Given the description of an element on the screen output the (x, y) to click on. 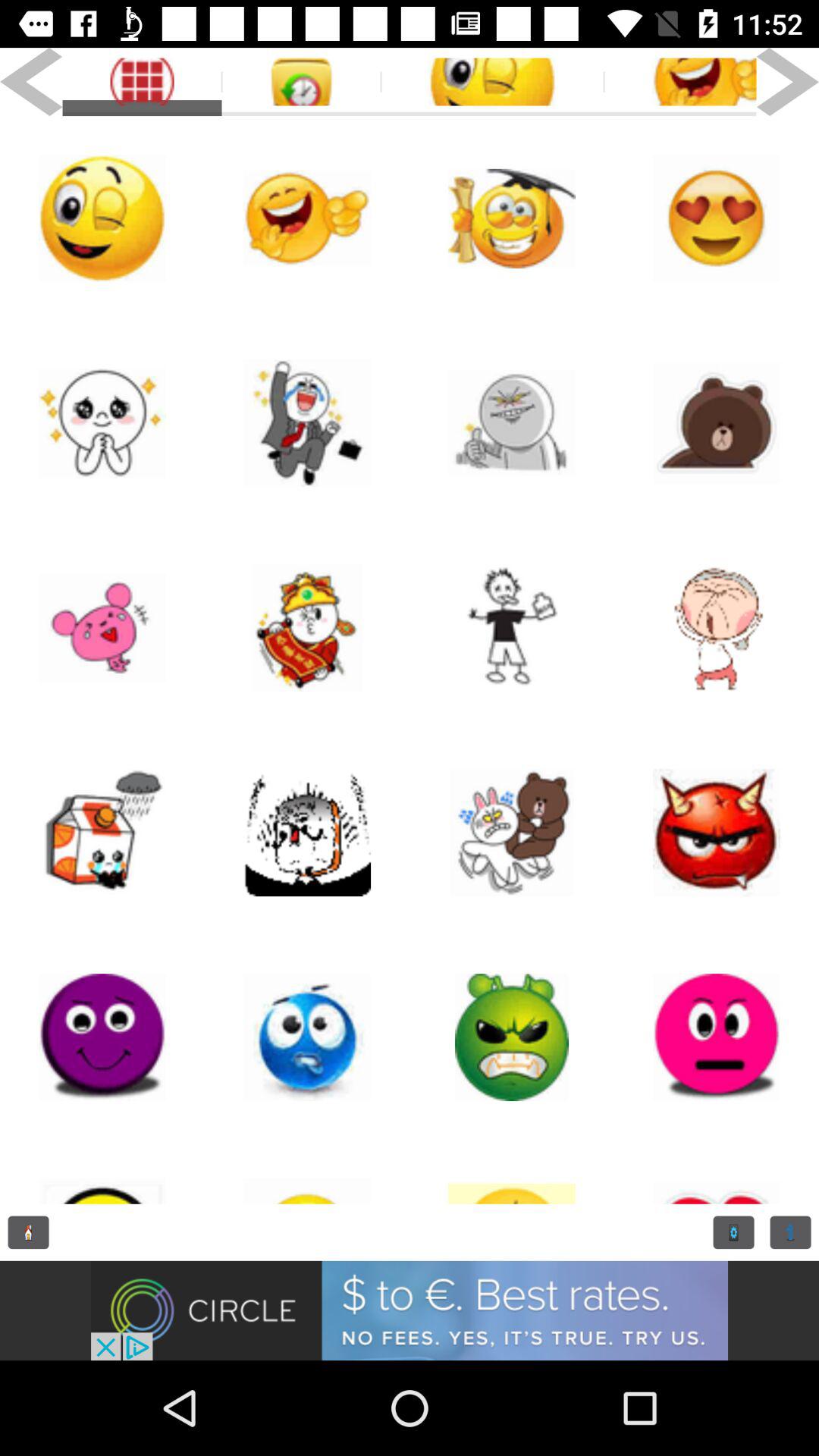
emoji 's selection (102, 832)
